Given the description of an element on the screen output the (x, y) to click on. 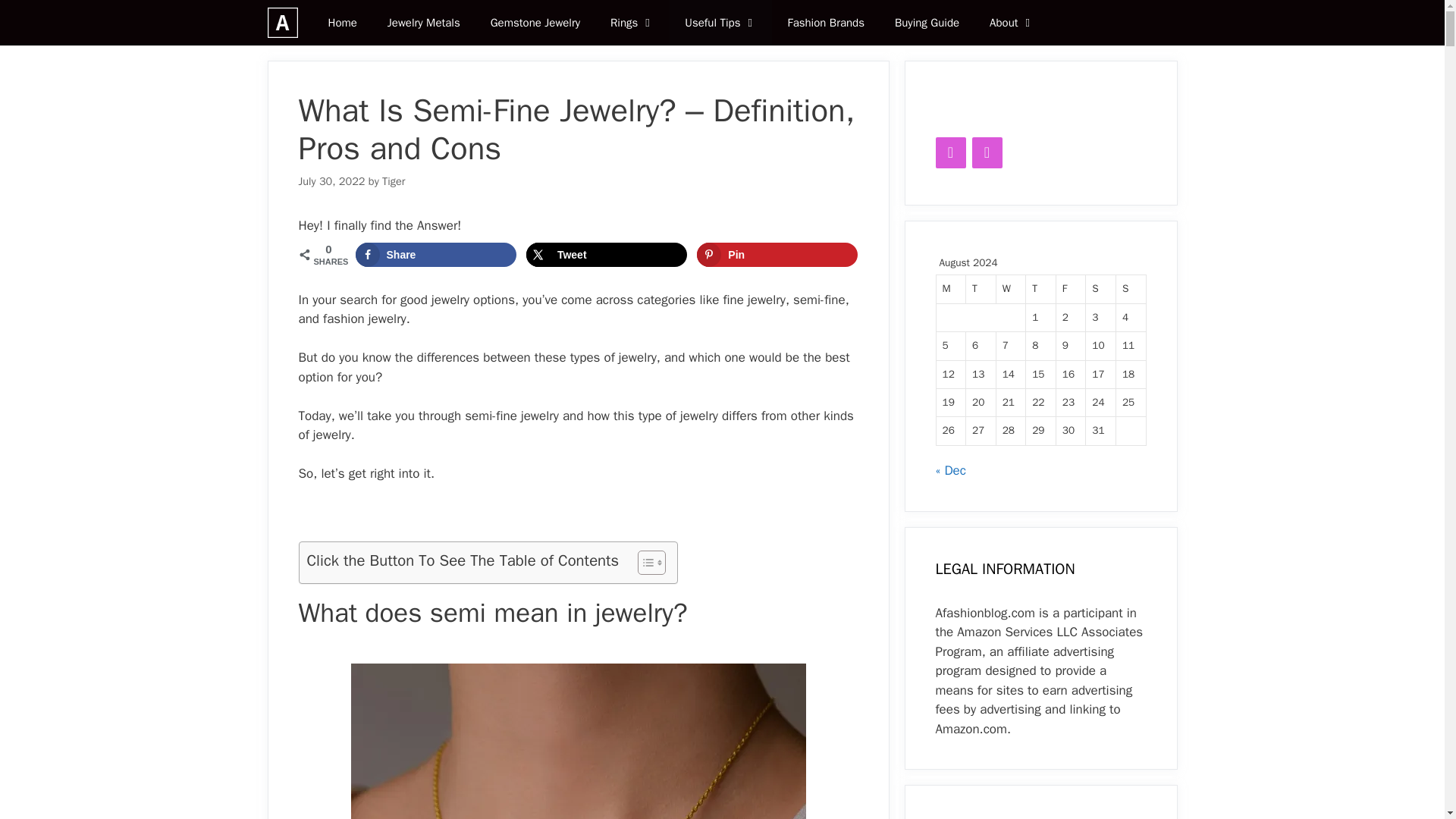
Fashion Brands (825, 22)
Save to Pinterest (777, 254)
Share on X (606, 254)
Share on Facebook (435, 254)
Buying Guide (926, 22)
Share (435, 254)
Useful Tips (720, 22)
Tiger (392, 181)
Rings (632, 22)
Home (342, 22)
